Given the description of an element on the screen output the (x, y) to click on. 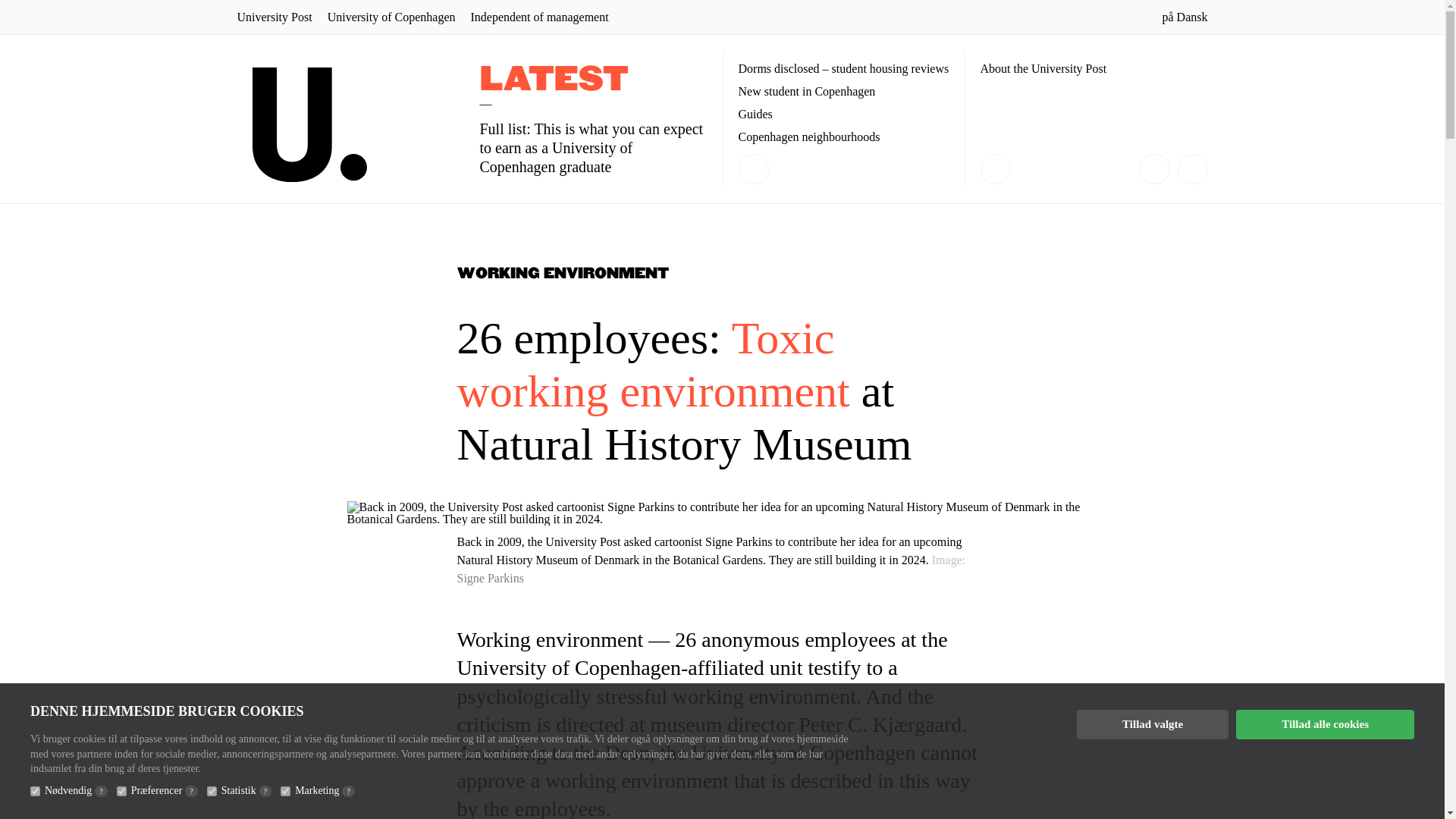
on (285, 791)
on (121, 791)
LATEST (553, 79)
on (211, 791)
University Post (273, 17)
Tillad alle cookies (1324, 724)
on (35, 791)
Tillad valgte (1152, 724)
